Given the description of an element on the screen output the (x, y) to click on. 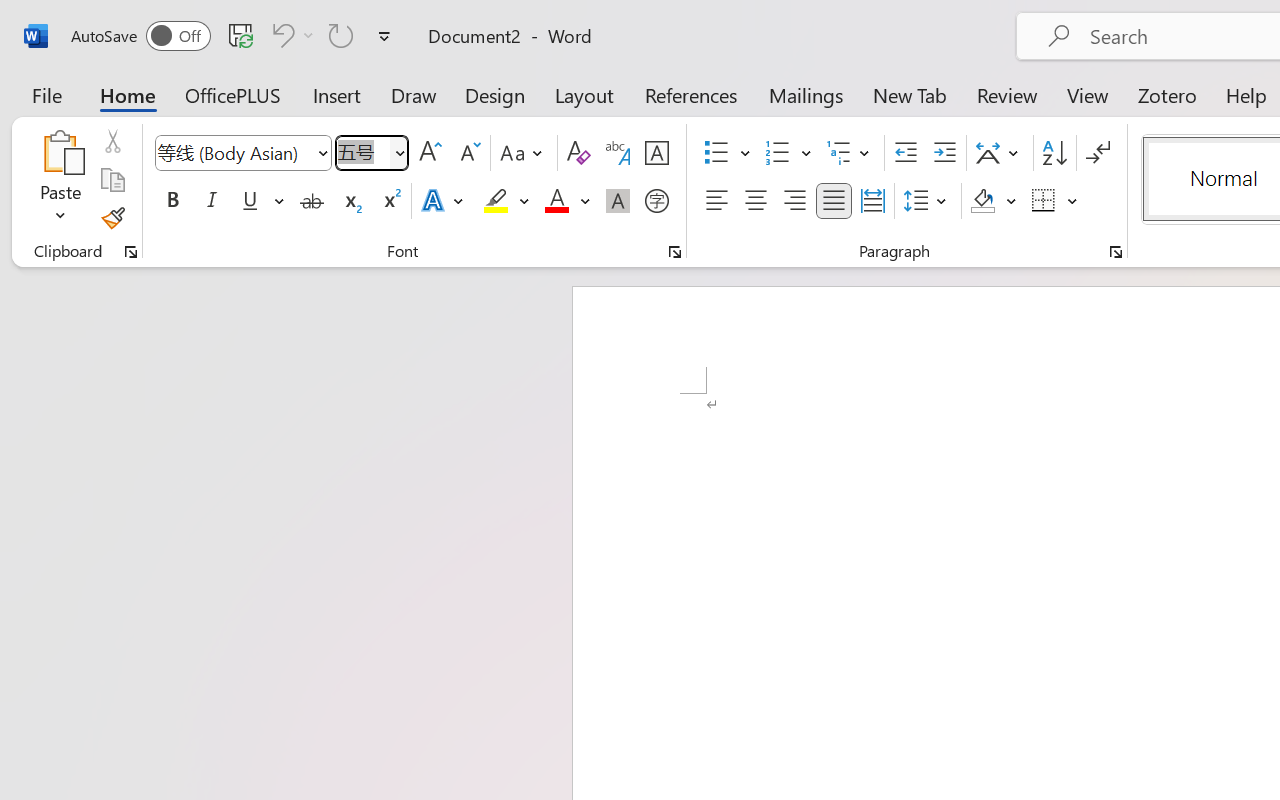
Borders (1044, 201)
Align Right (794, 201)
Can't Undo (280, 35)
More Options (1073, 201)
Clear Formatting (578, 153)
Paragraph... (1115, 252)
Shrink Font (468, 153)
Font (234, 152)
Shading RGB(0, 0, 0) (982, 201)
Text Effects and Typography (444, 201)
Open (399, 152)
Superscript (390, 201)
Justify (834, 201)
Multilevel List (850, 153)
